Given the description of an element on the screen output the (x, y) to click on. 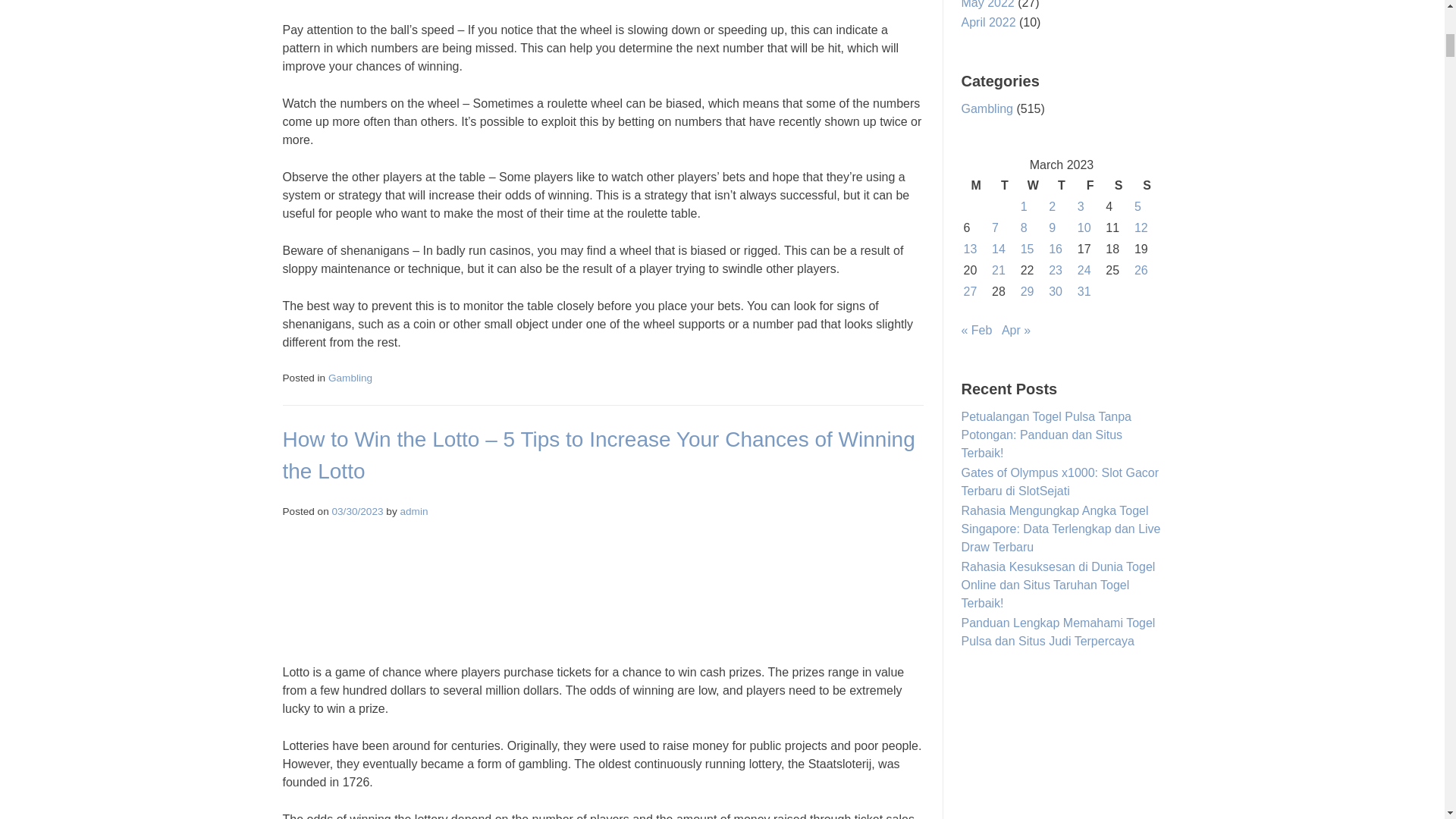
Saturday (1118, 185)
Monday (976, 185)
Tuesday (1004, 185)
Thursday (1061, 185)
Wednesday (1033, 185)
Friday (1090, 185)
admin (413, 511)
Gambling (350, 378)
Sunday (1147, 185)
